Given the description of an element on the screen output the (x, y) to click on. 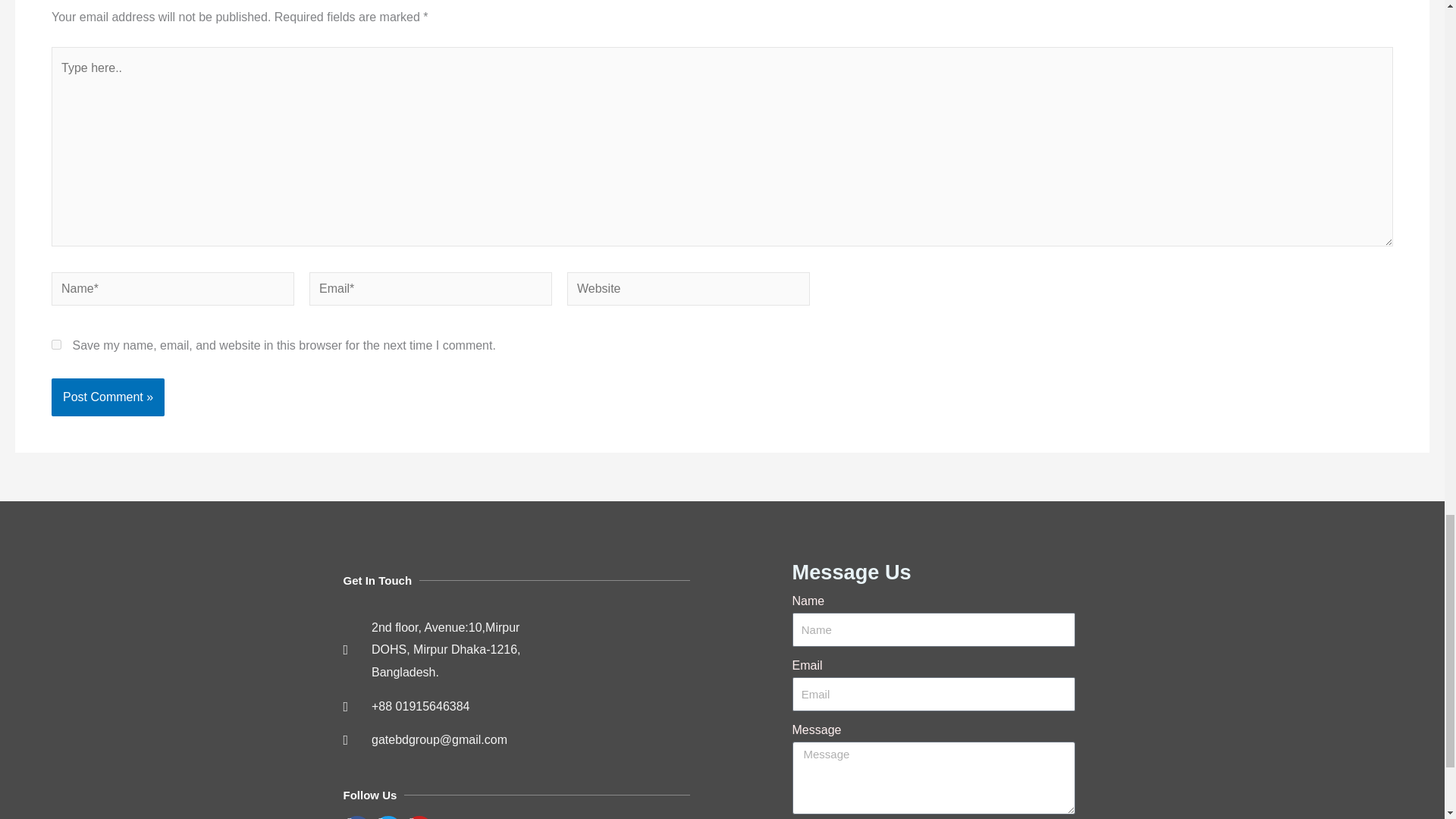
yes (55, 344)
